Given the description of an element on the screen output the (x, y) to click on. 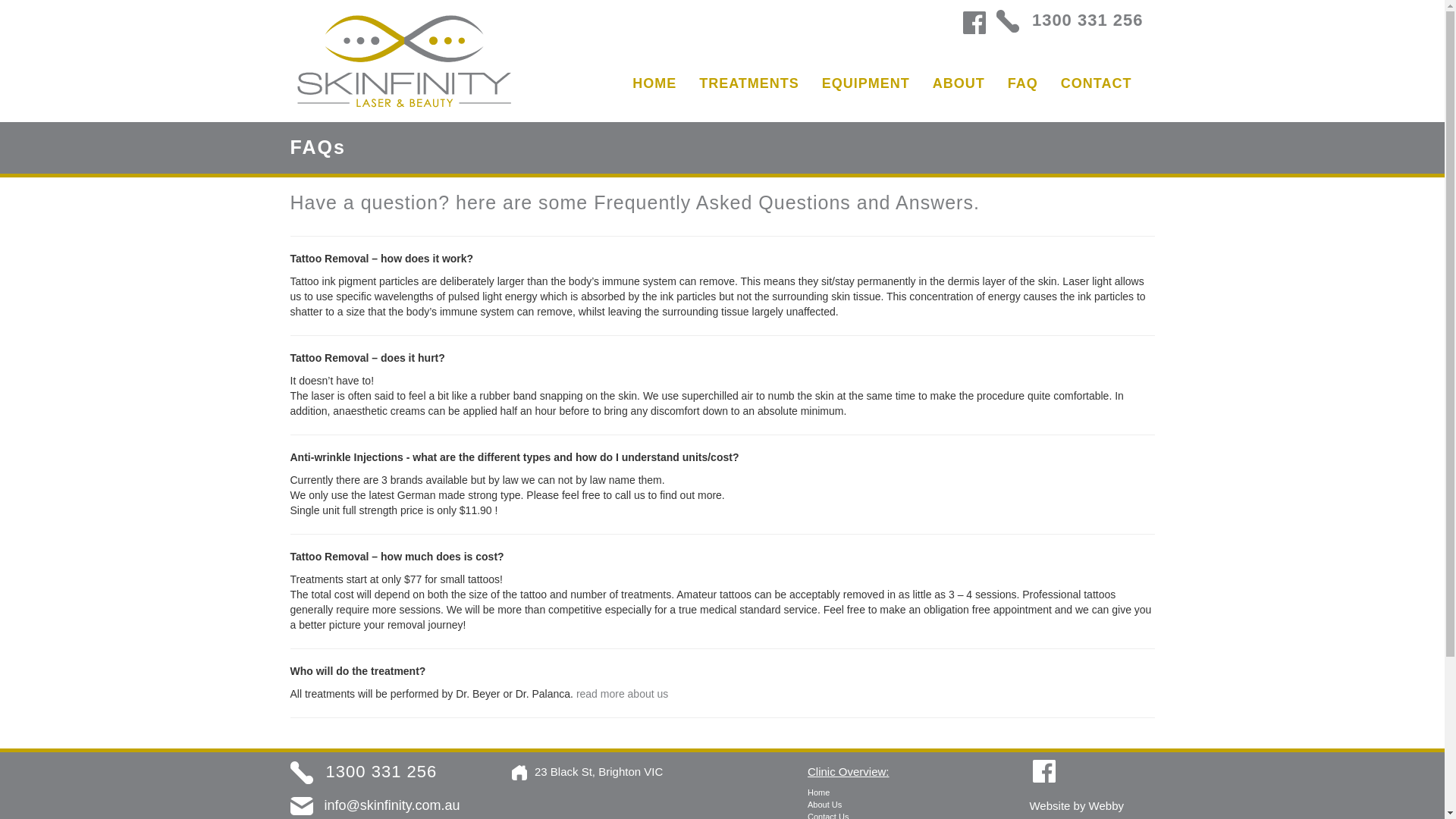
CONTACT (1095, 83)
TREATMENTS (748, 83)
ABOUT (958, 83)
EQUIPMENT (865, 83)
Contact Us (828, 815)
Home (818, 791)
1300 331 256 (362, 771)
About Us (824, 804)
FAQ (1022, 83)
read more about us (622, 693)
